Given the description of an element on the screen output the (x, y) to click on. 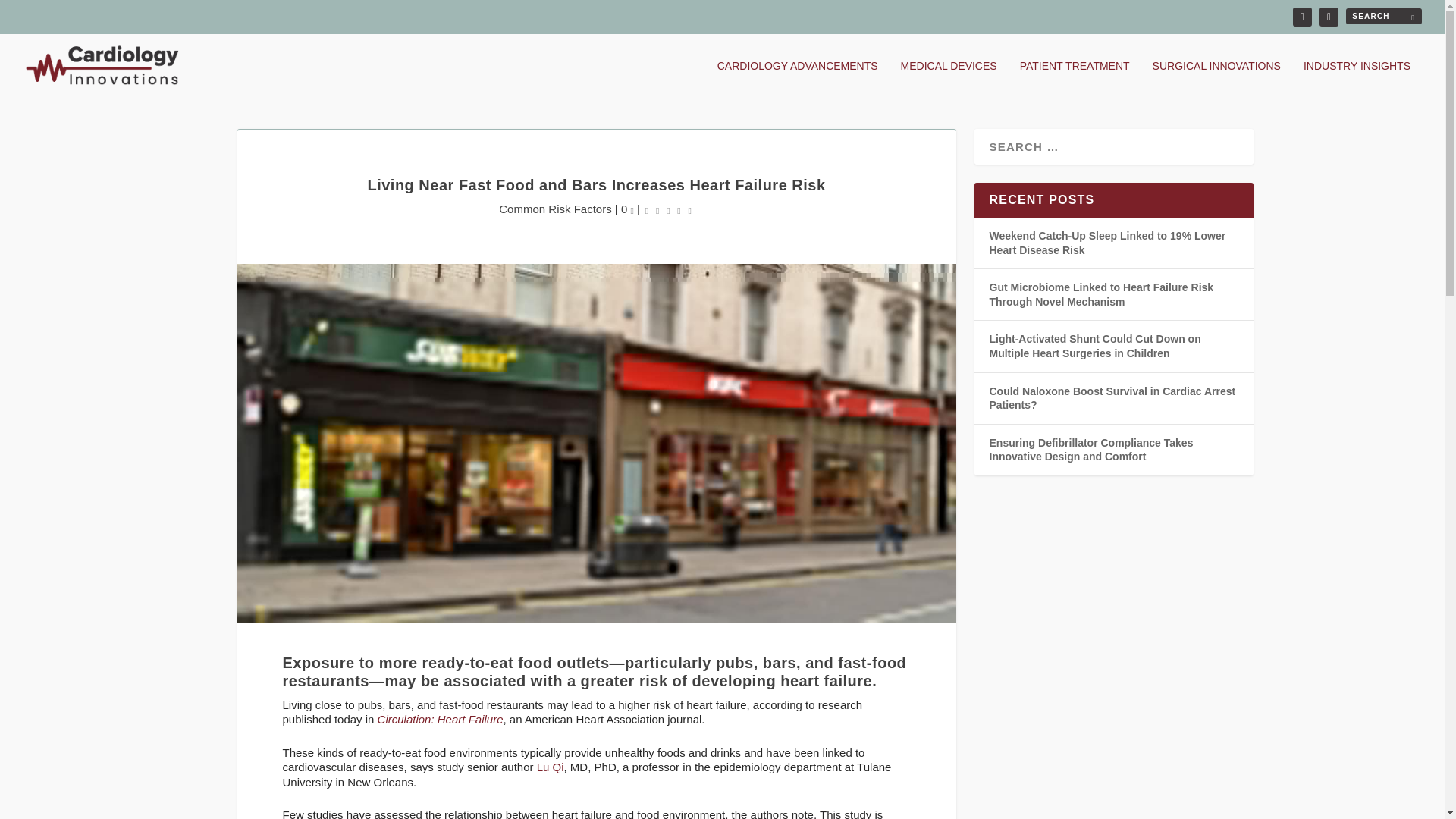
INDUSTRY INSIGHTS (1356, 78)
Circulation: Heart Failure (440, 718)
PATIENT TREATMENT (1074, 78)
SURGICAL INNOVATIONS (1217, 78)
Lu Qi (550, 766)
CARDIOLOGY ADVANCEMENTS (797, 78)
MEDICAL DEVICES (949, 78)
Search for: (1383, 16)
